Given the description of an element on the screen output the (x, y) to click on. 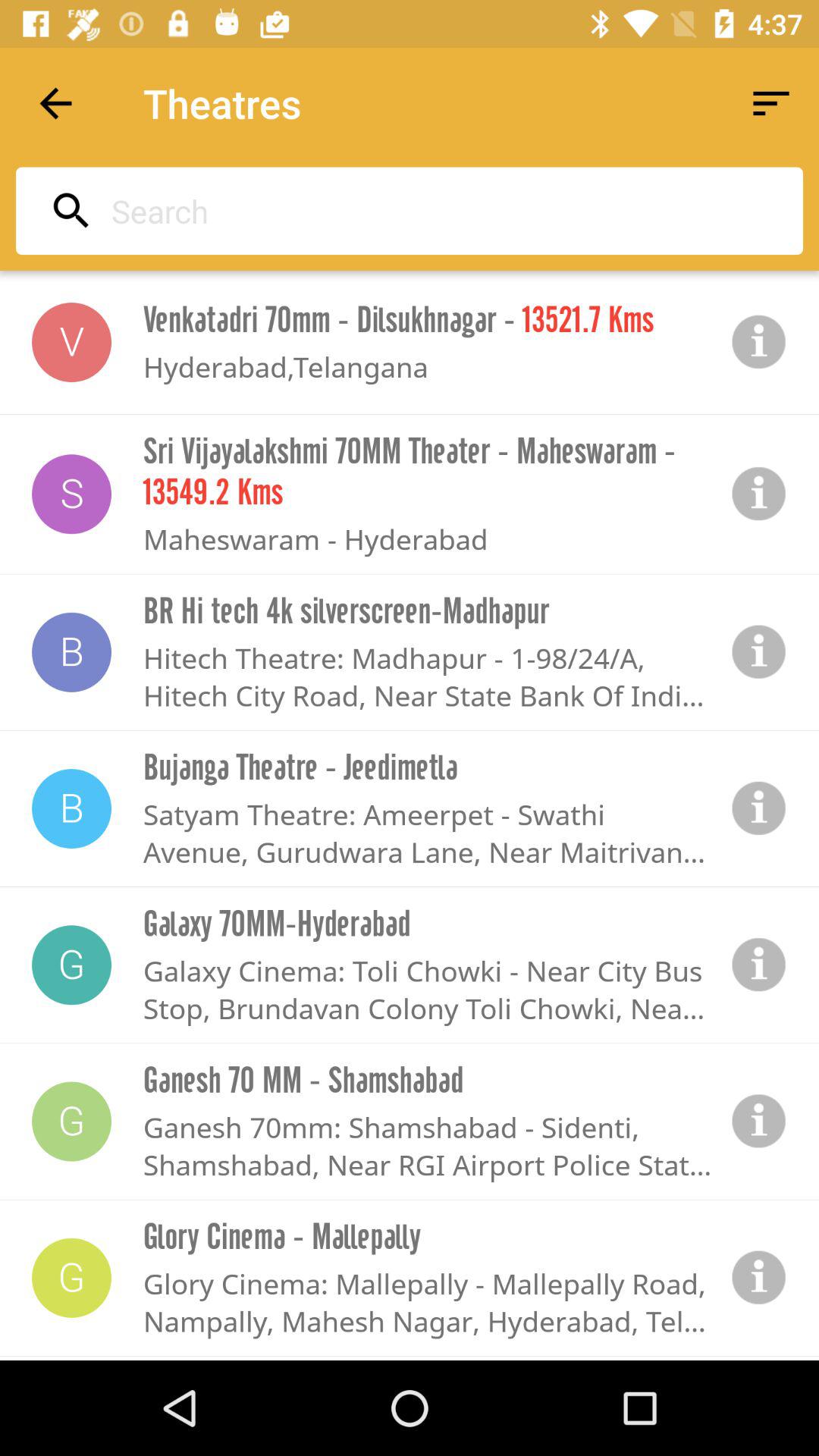
display information (759, 965)
